Given the description of an element on the screen output the (x, y) to click on. 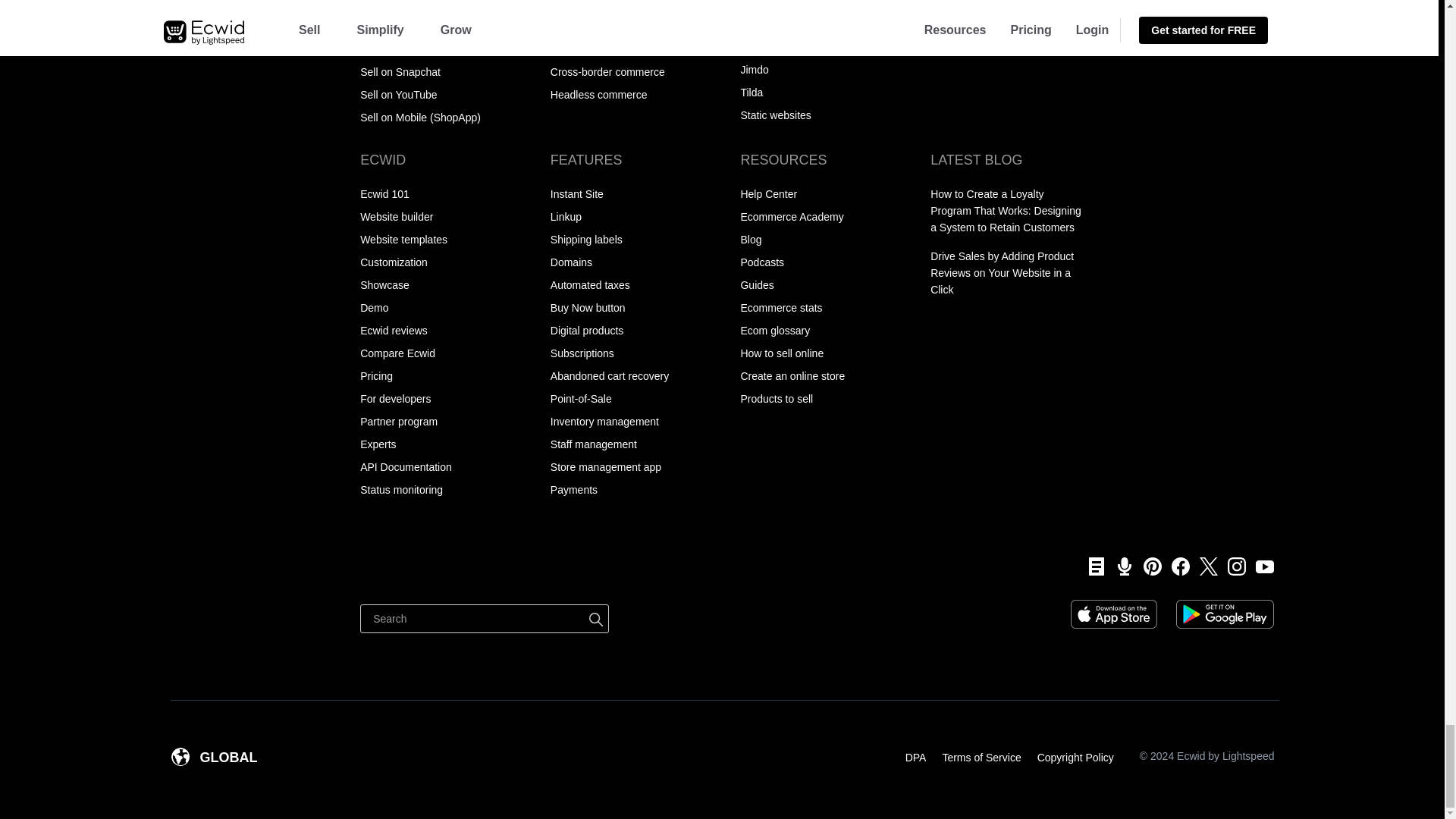
Instagram (1231, 566)
Twitter (1203, 566)
Ecwid podcast (1119, 566)
Youtube (1260, 566)
Search (483, 618)
Facebook (1175, 566)
Ecwid blog (1091, 566)
Pinterest (1147, 566)
